Given the description of an element on the screen output the (x, y) to click on. 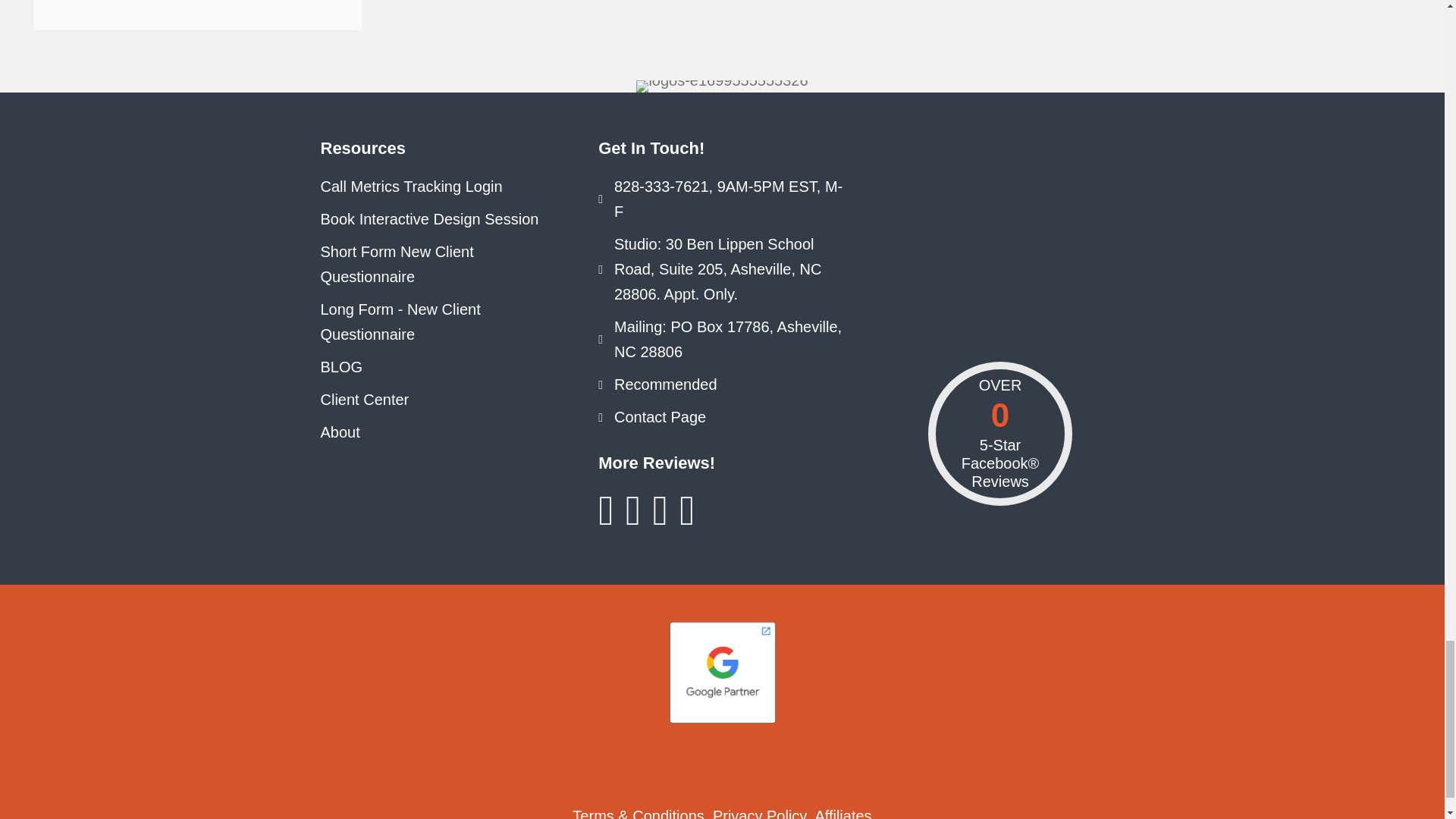
logos-e1699555555326 (722, 86)
